Given the description of an element on the screen output the (x, y) to click on. 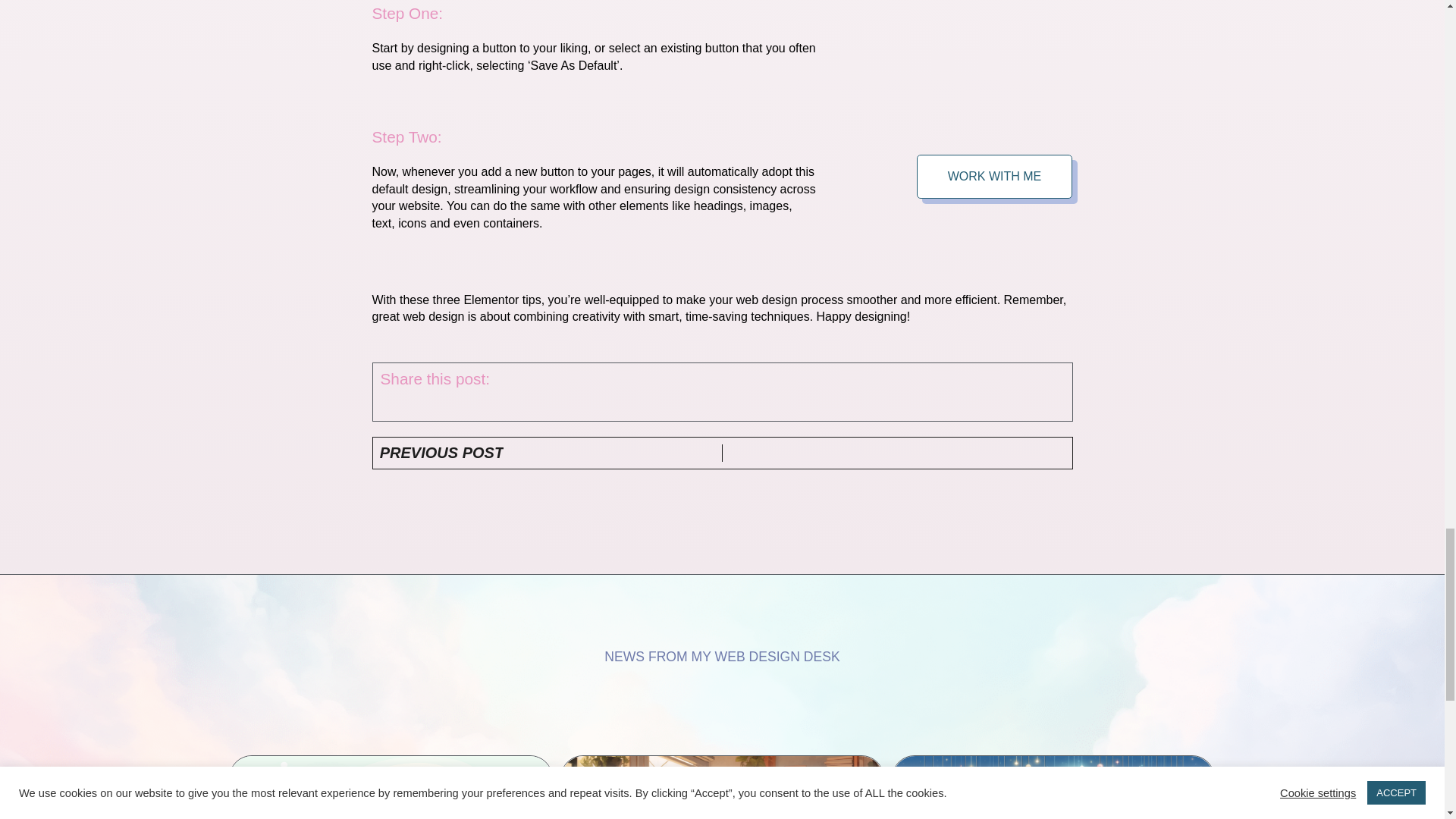
PREVIOUS POST (551, 452)
WORK WITH ME (995, 176)
